Given the description of an element on the screen output the (x, y) to click on. 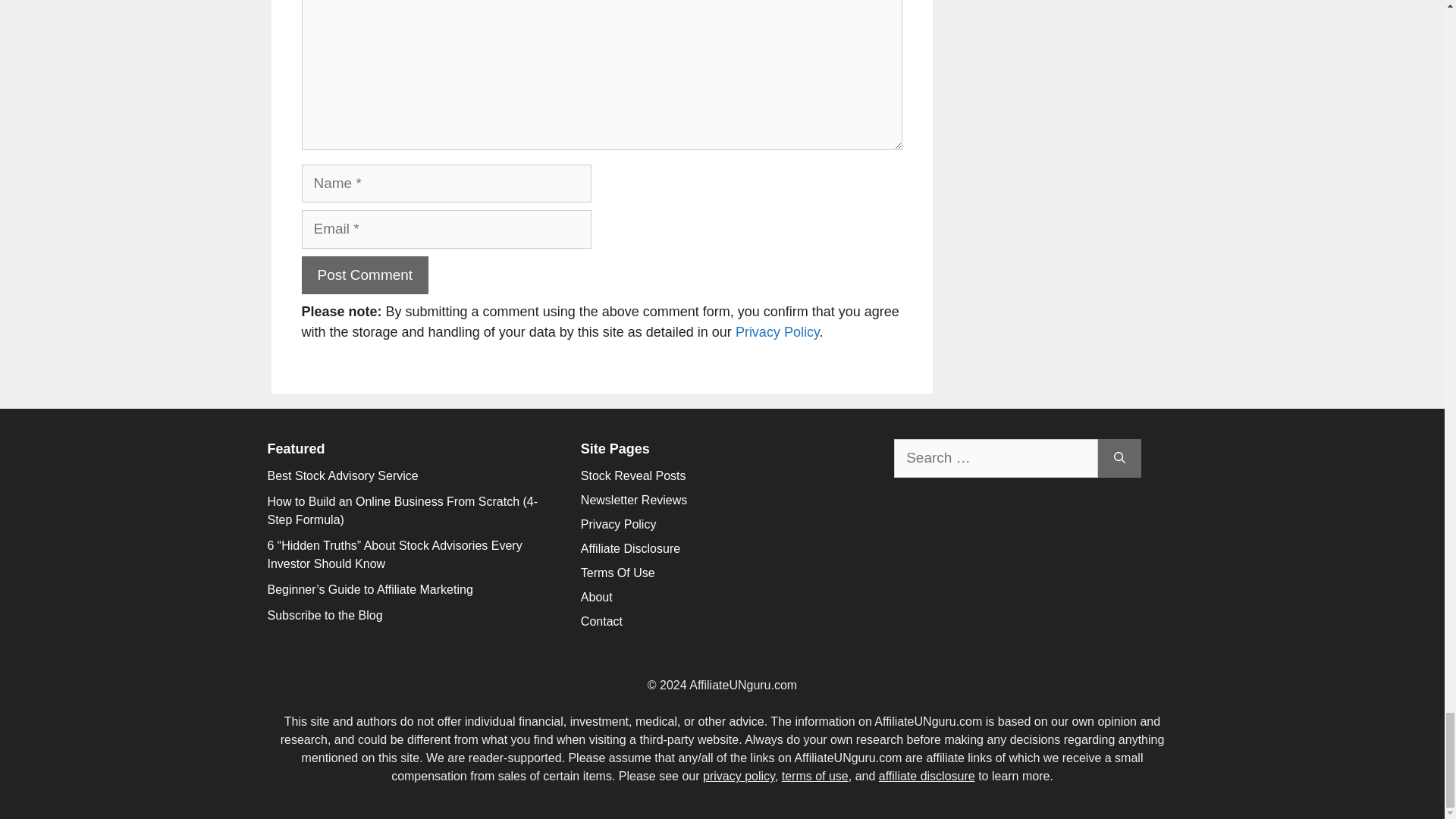
Post Comment (365, 275)
Privacy Policy (777, 331)
Search for: (995, 457)
Post Comment (365, 275)
Best Stock Advisory Service (341, 475)
